Given the description of an element on the screen output the (x, y) to click on. 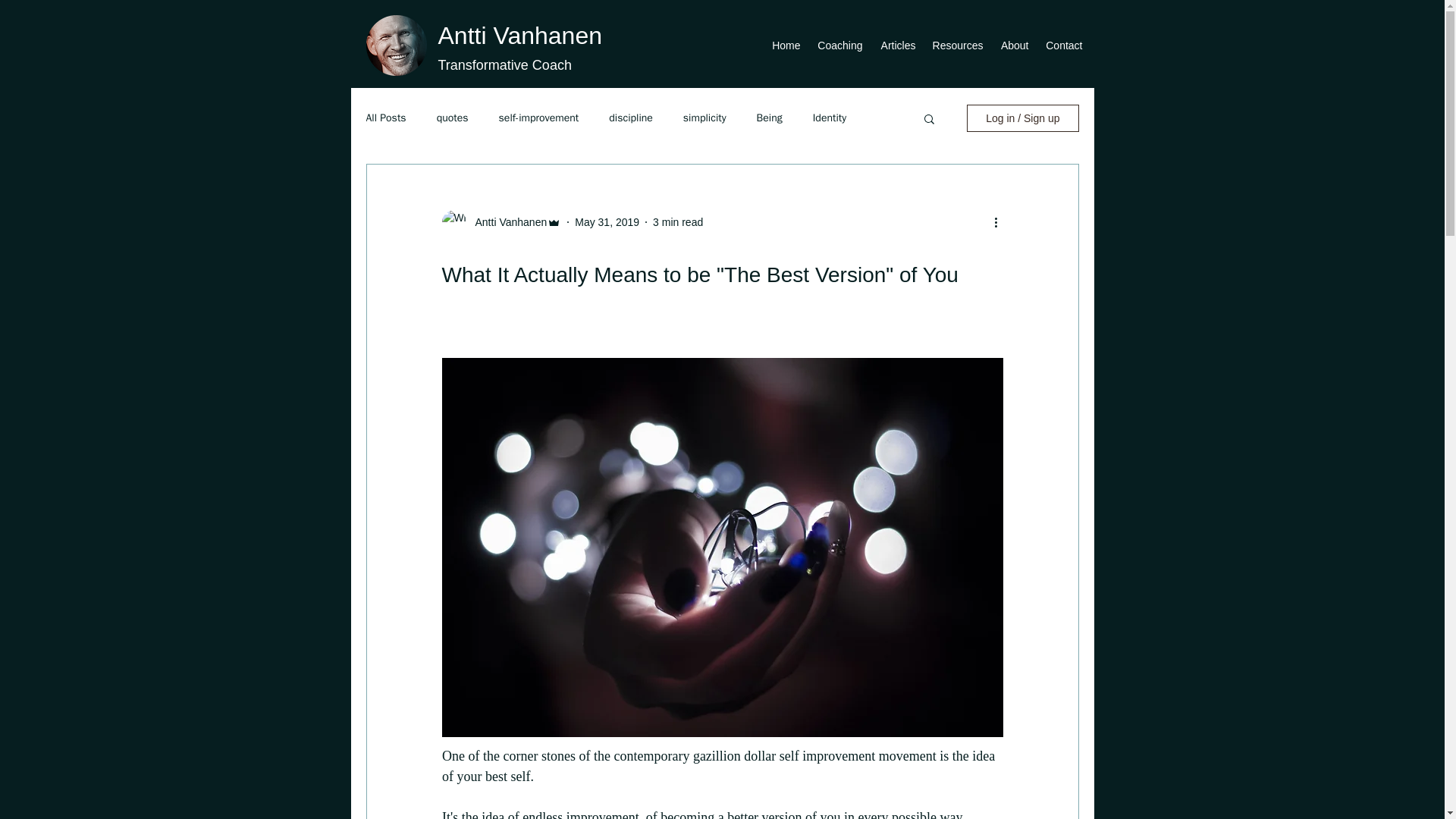
Resources (957, 45)
3 min read (677, 221)
Identity (828, 118)
Coaching (839, 45)
Antti Vanhanen (506, 221)
Articles (896, 45)
About (1012, 45)
All Posts (385, 118)
May 31, 2019 (607, 221)
Contact (1062, 45)
